Given the description of an element on the screen output the (x, y) to click on. 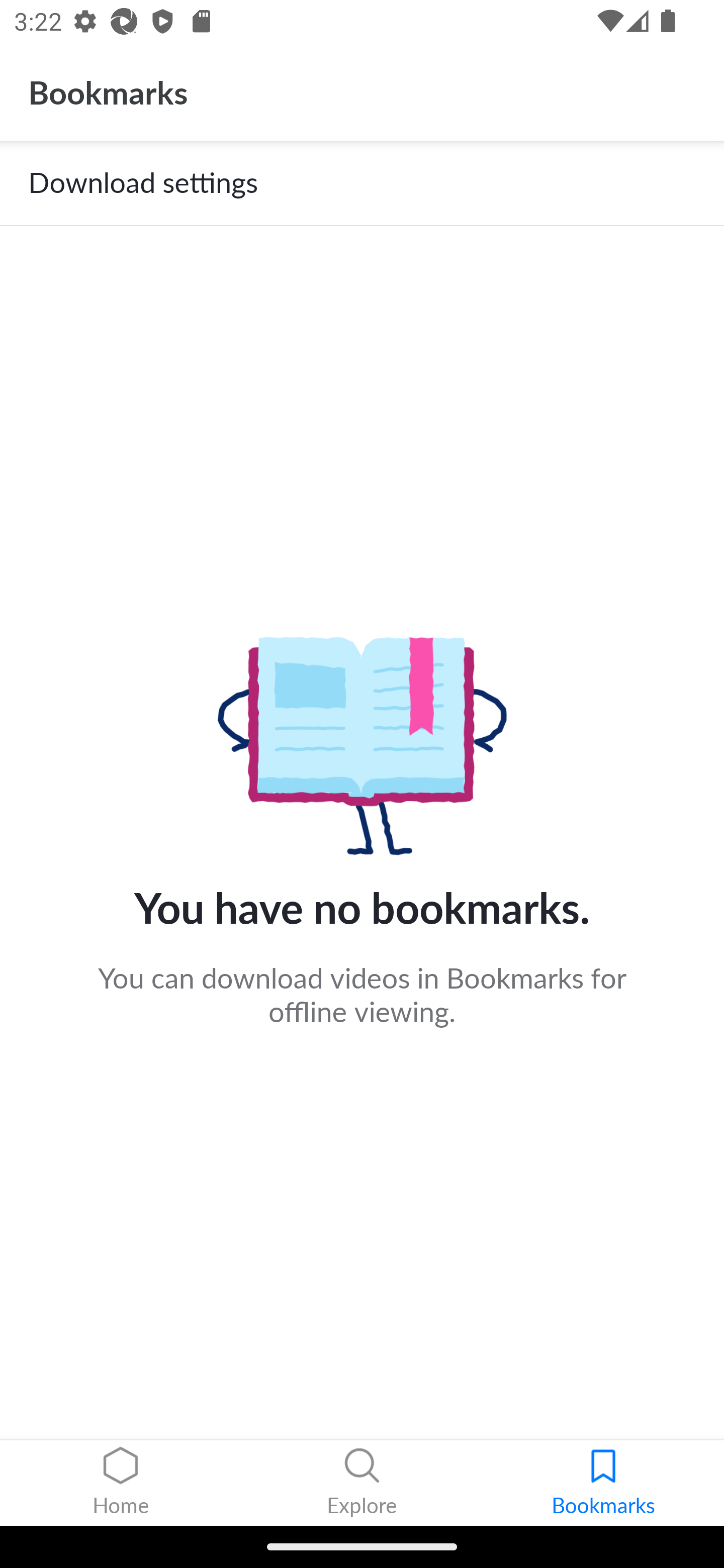
Download settings (362, 183)
Home (120, 1482)
Explore (361, 1482)
Bookmarks (603, 1482)
